Given the description of an element on the screen output the (x, y) to click on. 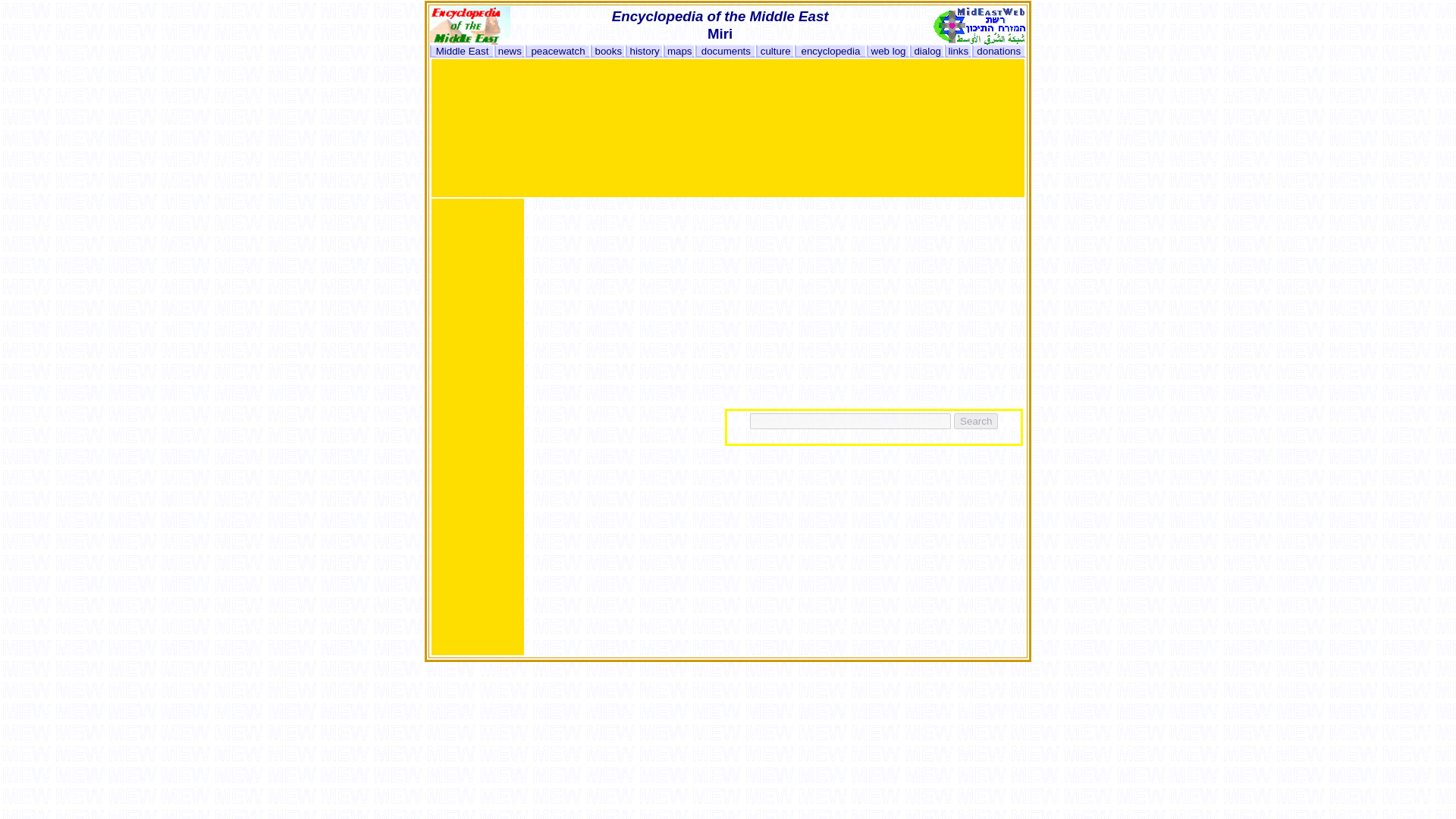
Search (975, 420)
donations (998, 50)
Search (975, 420)
Middle East Books (607, 50)
Advertisement (708, 161)
dialog (927, 50)
documents (726, 50)
news (509, 50)
maps (679, 50)
Israeli-Palestinian Peace Watch (558, 50)
